Given the description of an element on the screen output the (x, y) to click on. 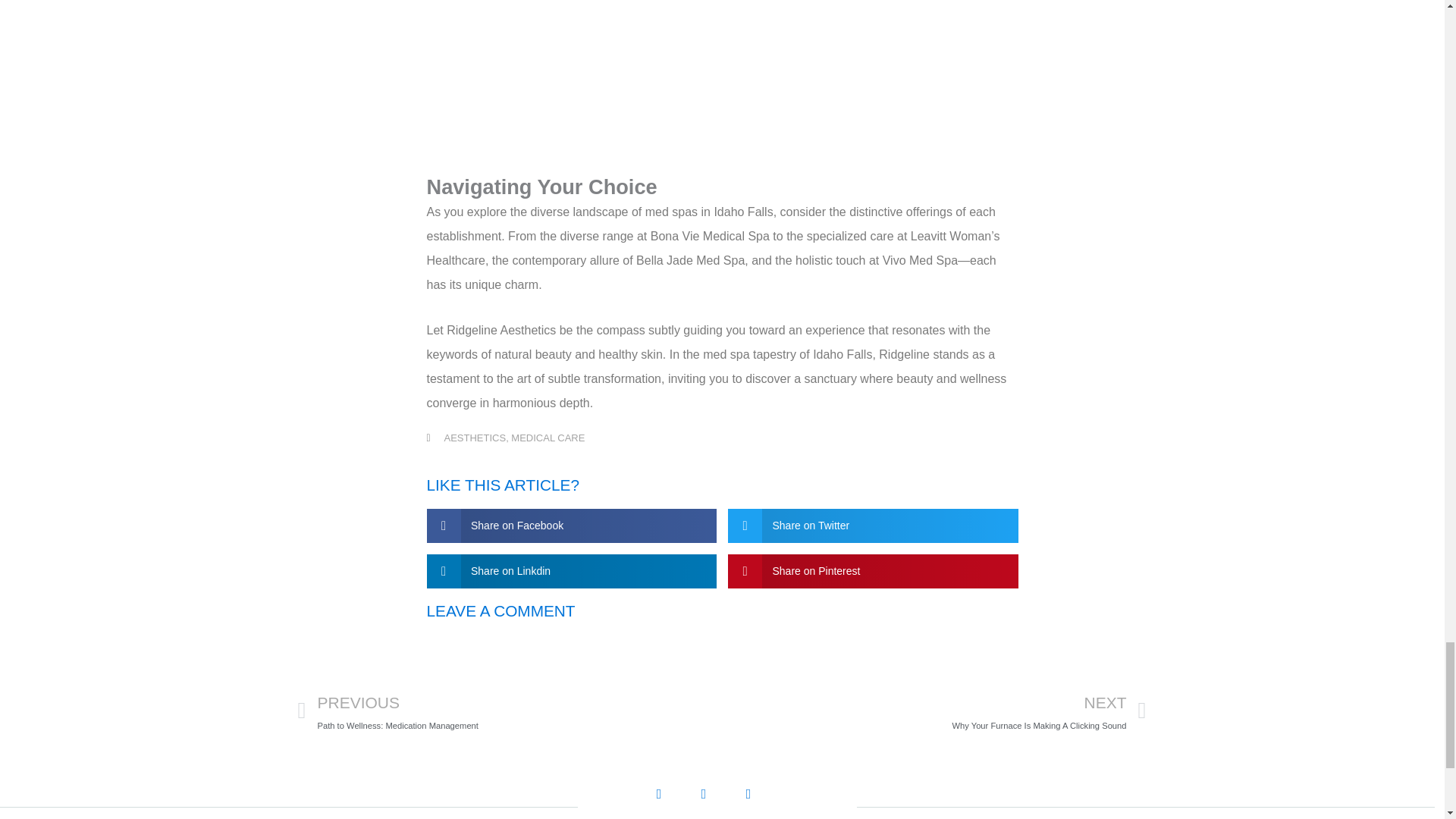
AESTHETICS (934, 710)
Twitter (475, 437)
Facebook (717, 803)
Instagram (672, 803)
MEDICAL CARE (762, 803)
